Given the description of an element on the screen output the (x, y) to click on. 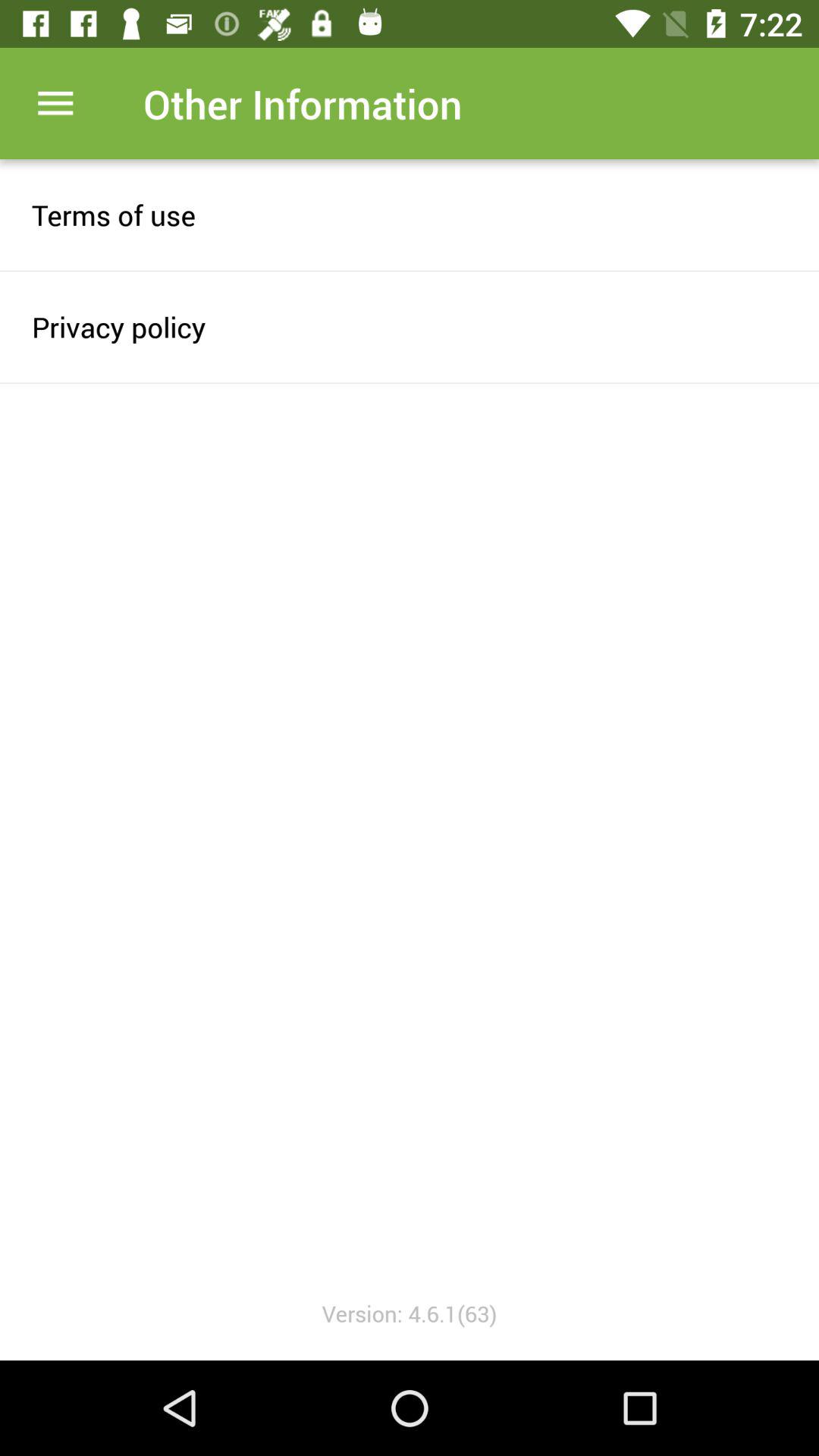
open app menu (55, 103)
